Given the description of an element on the screen output the (x, y) to click on. 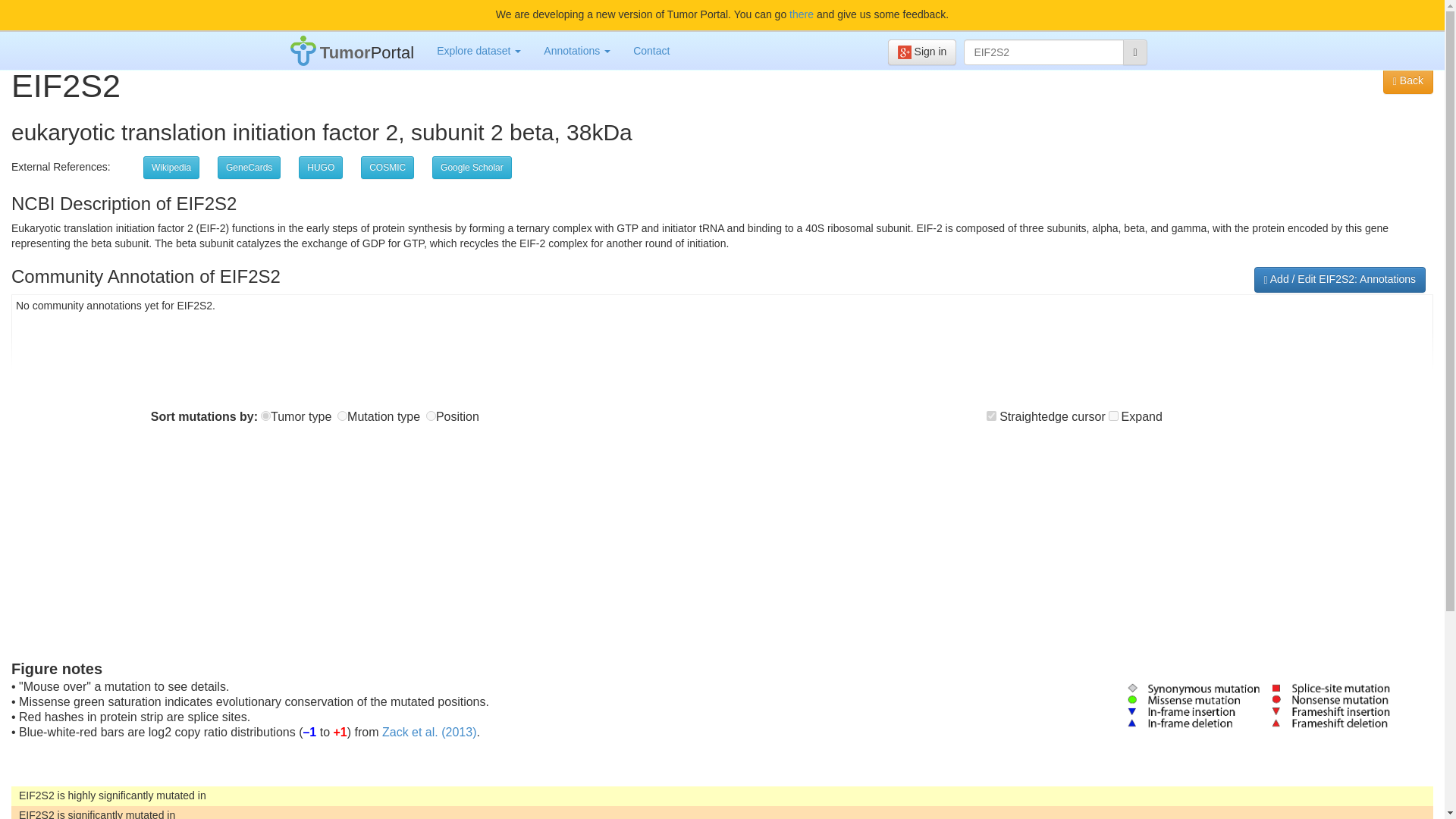
Wikipedia (170, 167)
on (1113, 415)
on (991, 415)
Wikipedia (170, 167)
MutationType (342, 415)
Explore dataset (478, 50)
 TumorPortal (352, 50)
Position (430, 415)
TumorType (265, 415)
COSMIC (387, 167)
